Given the description of an element on the screen output the (x, y) to click on. 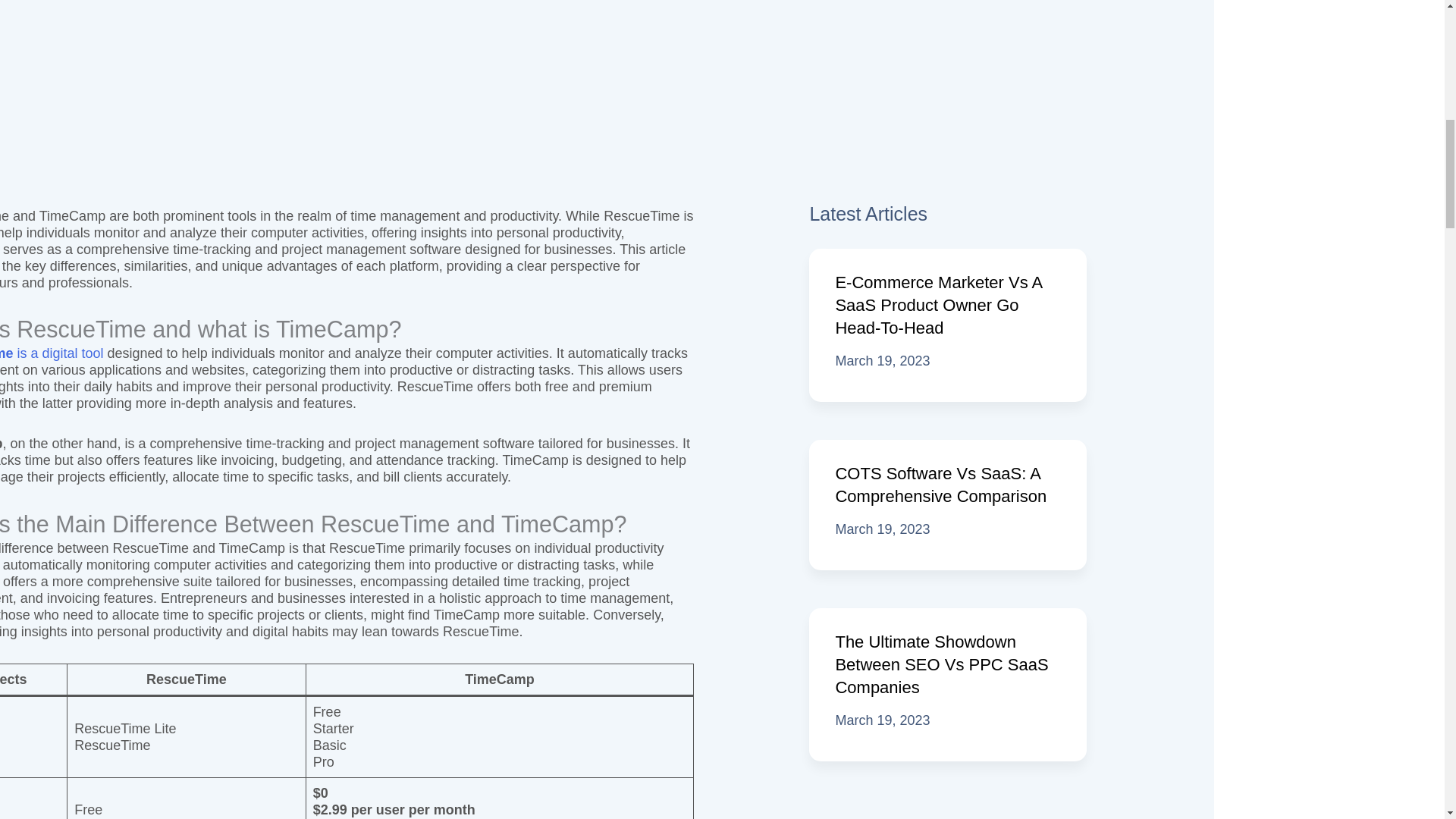
RescueTime is a digital tool (51, 353)
E-Commerce Marketer Vs A SaaS Product Owner Go Head-To-Head (938, 304)
COTS Software Vs SaaS: A Comprehensive Comparison (940, 485)
The Ultimate Showdown Between SEO Vs PPC SaaS Companies (941, 664)
